Given the description of an element on the screen output the (x, y) to click on. 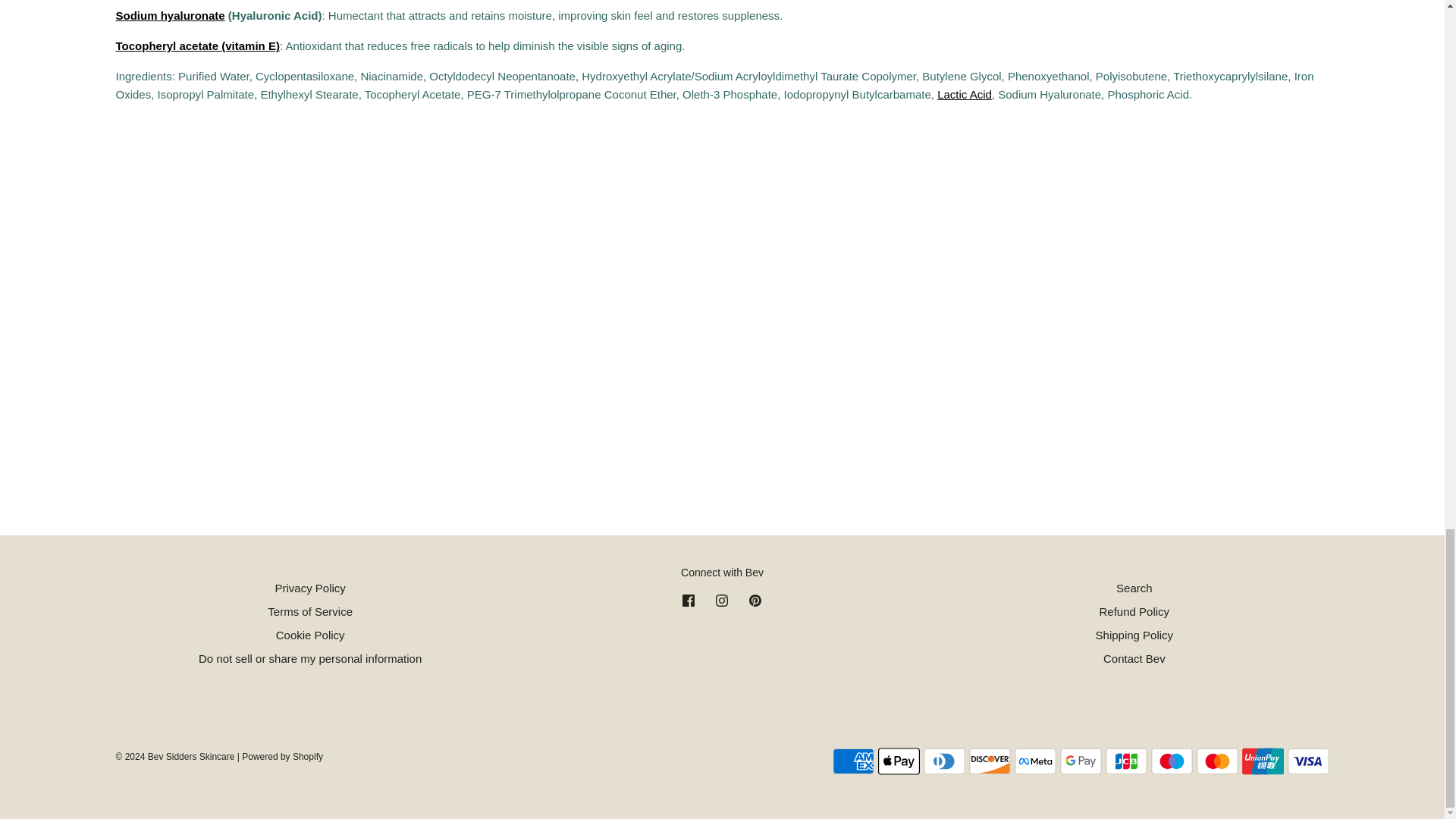
Apple Pay (898, 761)
Maestro (1171, 761)
Discover (989, 761)
Google Pay (1080, 761)
American Express (853, 761)
Vitamin E Acetate (197, 45)
Meta Pay (1035, 761)
JCB (1126, 761)
Sodium Hyaluronate (169, 15)
Lactic Acid (964, 93)
Diners Club (944, 761)
